Given the description of an element on the screen output the (x, y) to click on. 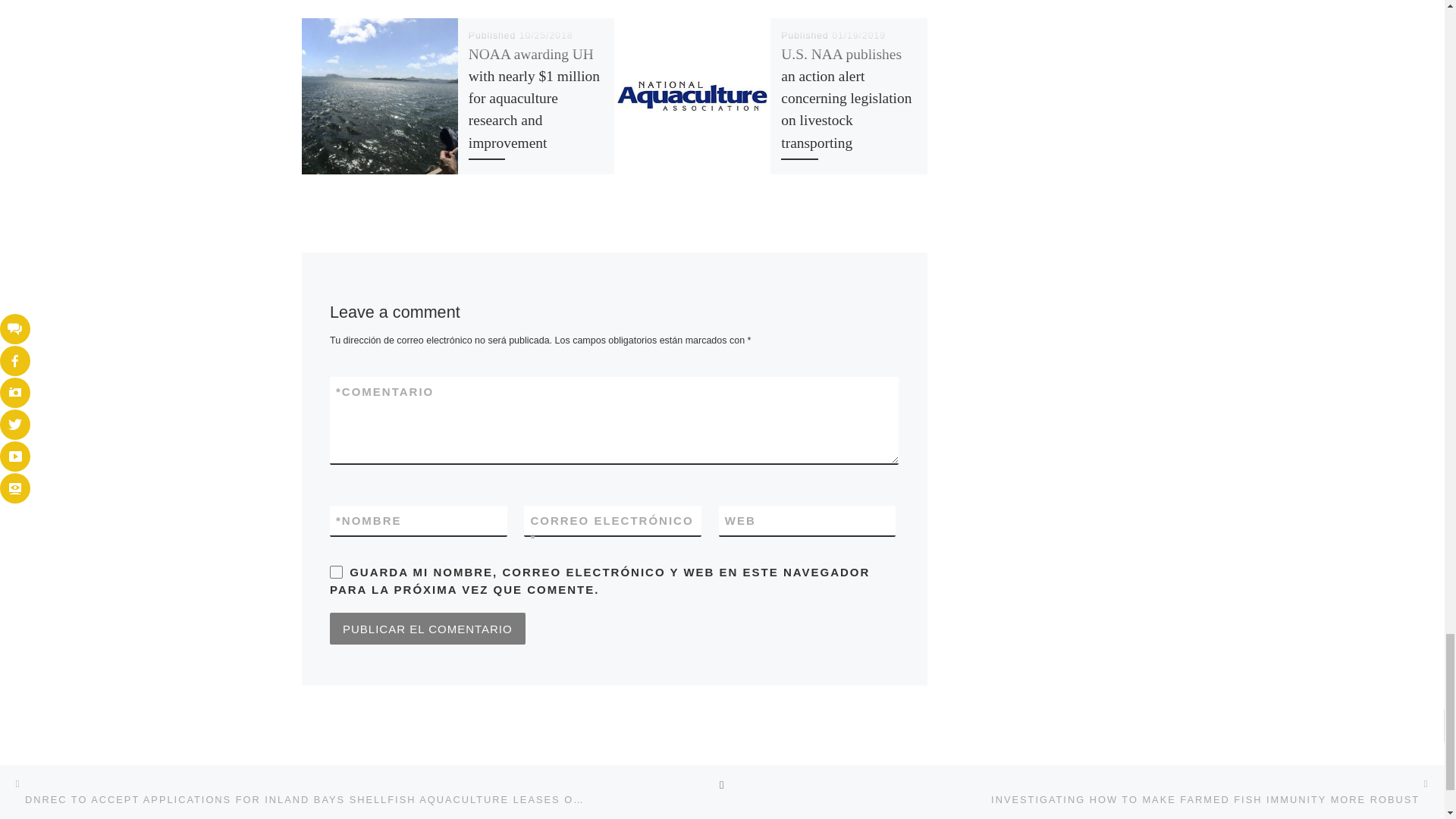
Publicar el comentario (427, 628)
yes (336, 571)
